Given the description of an element on the screen output the (x, y) to click on. 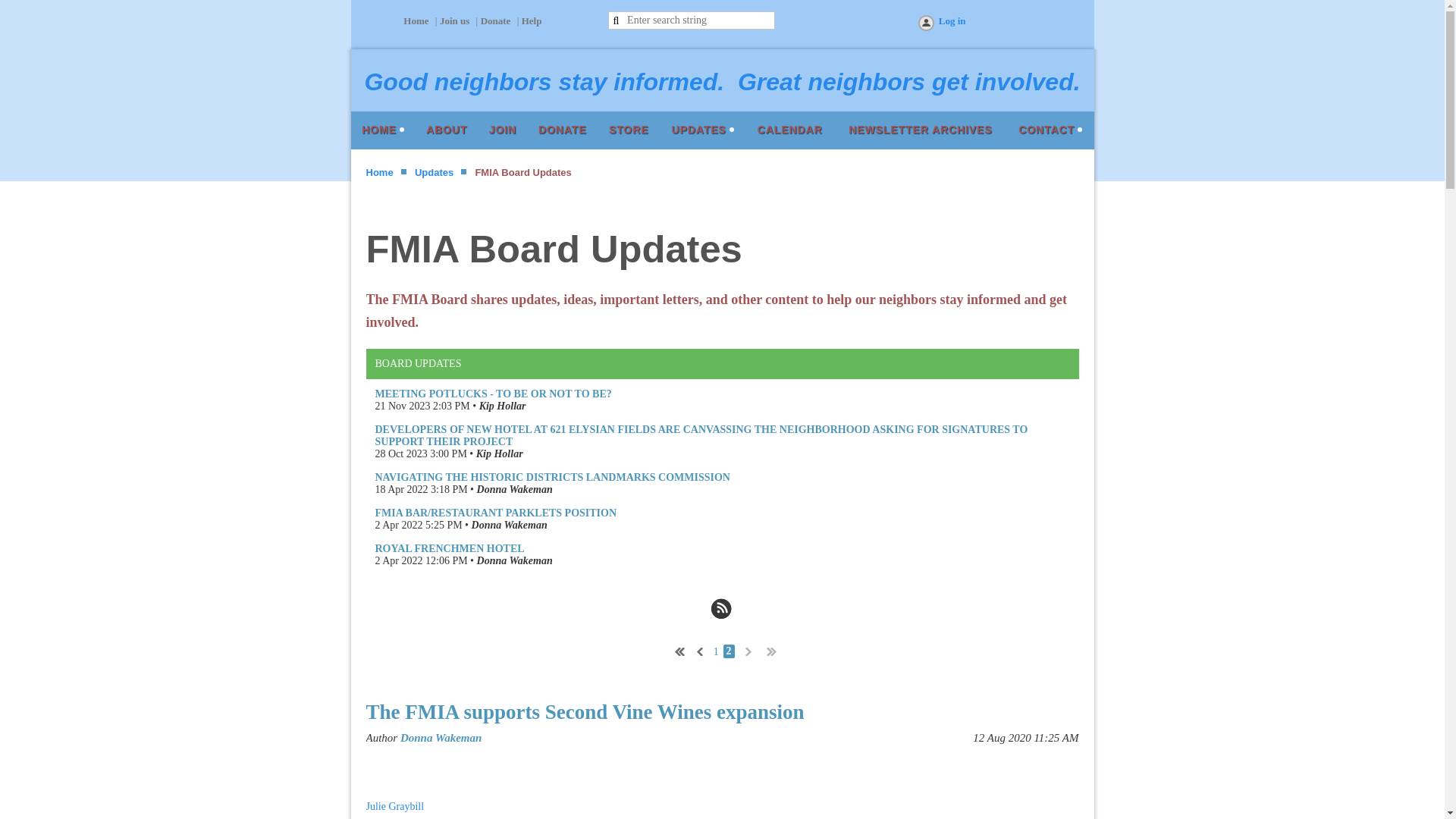
About (445, 130)
Home (382, 130)
Donna Wakeman (515, 560)
Updates (433, 172)
Kip Hollar (499, 453)
Store (627, 130)
STORE (627, 130)
Log in (940, 24)
Home (379, 172)
Help (531, 20)
Help (531, 20)
MEETING POTLUCKS - TO BE OR NOT TO BE? (492, 393)
Kip Hollar (502, 405)
Donate (495, 20)
